Given the description of an element on the screen output the (x, y) to click on. 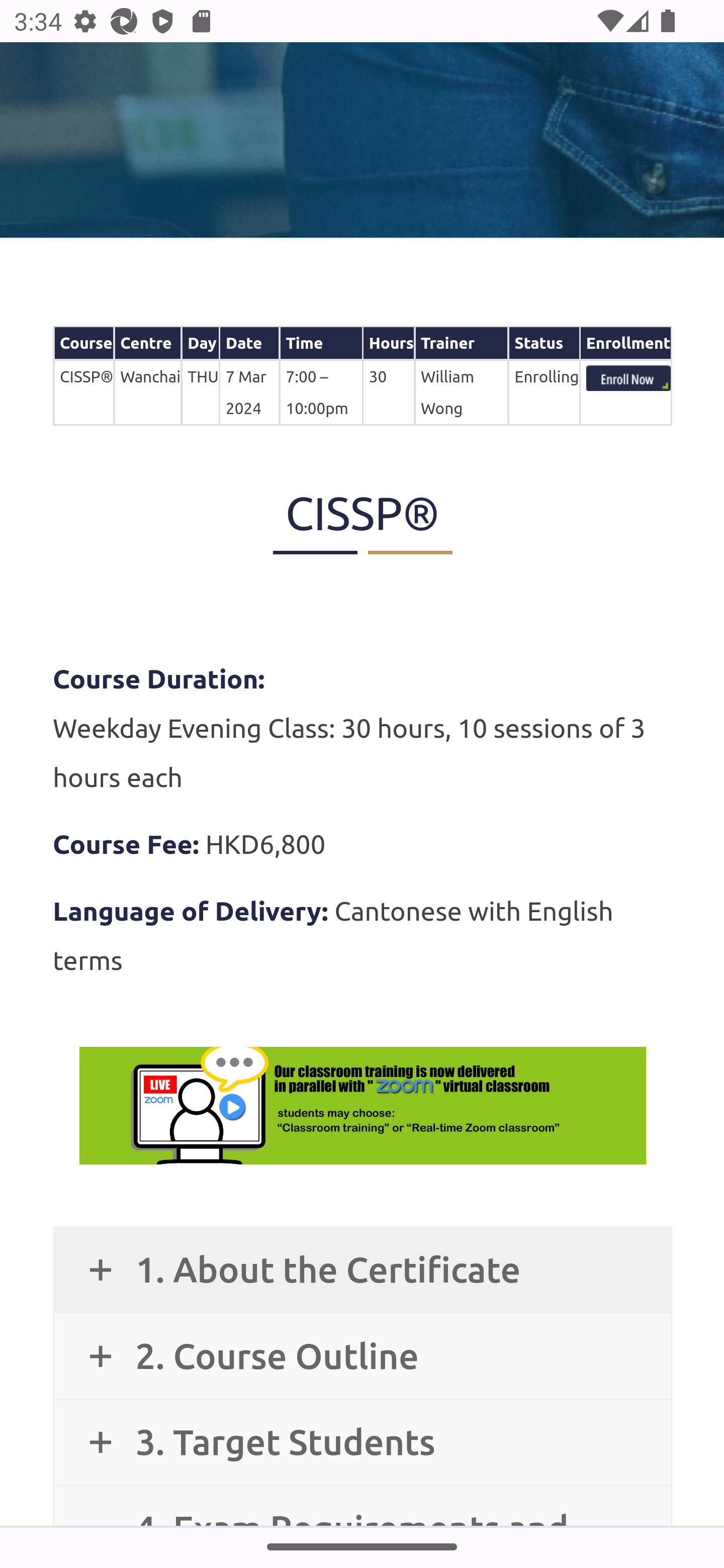
index (627, 379)
